Given the description of an element on the screen output the (x, y) to click on. 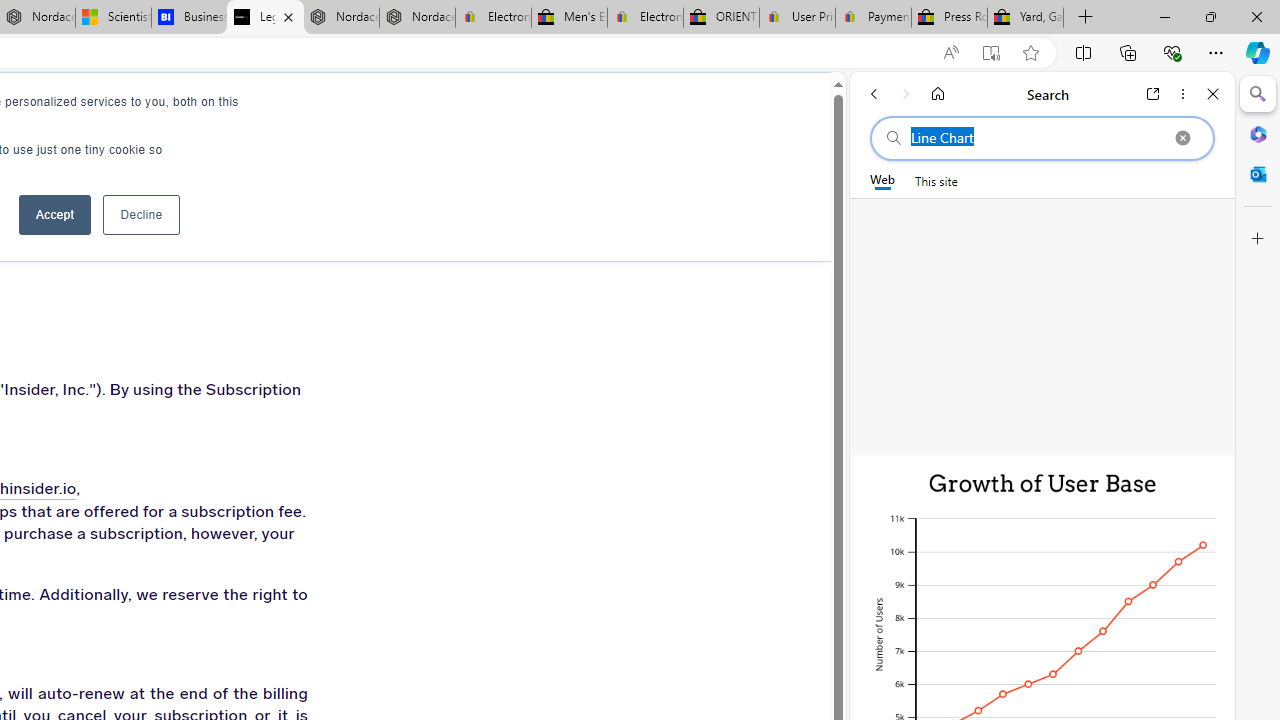
Accept (54, 214)
Clear (1182, 137)
